Given the description of an element on the screen output the (x, y) to click on. 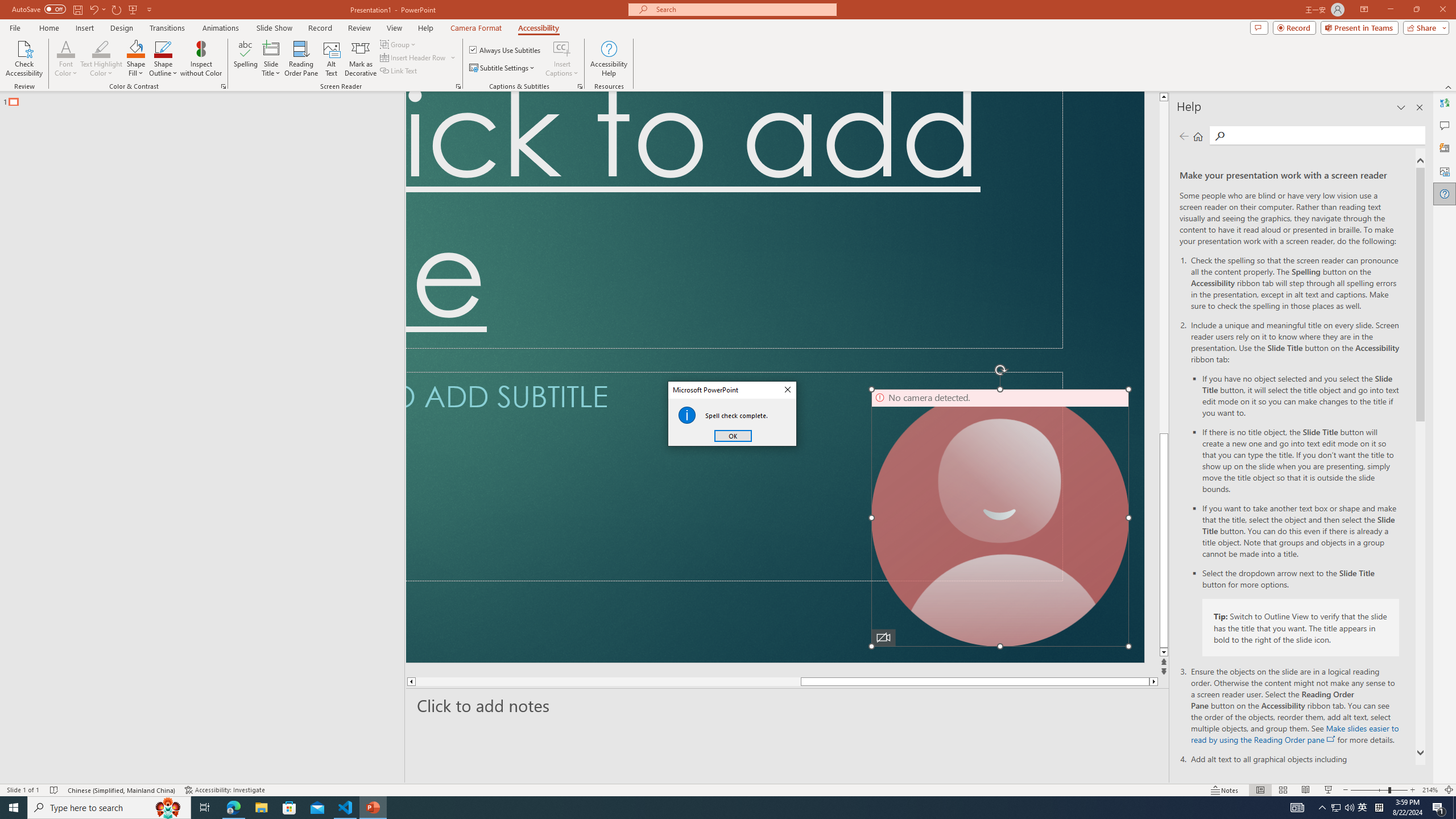
Camera Format (475, 28)
